Given the description of an element on the screen output the (x, y) to click on. 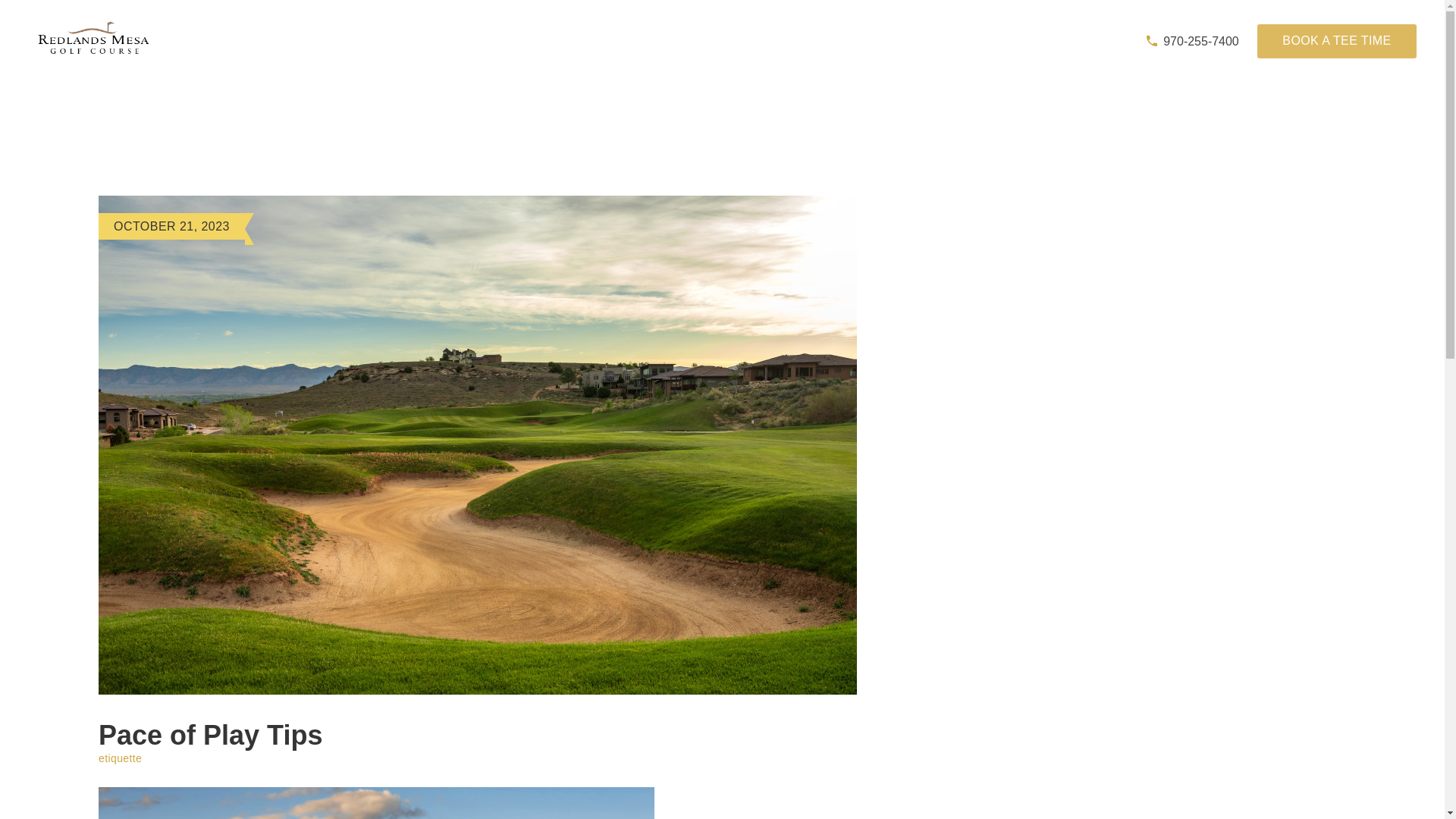
BOOK A TEE TIME (1336, 41)
OCTOBER 21, 2023 (171, 225)
970-255-7400 (1193, 40)
